Given the description of an element on the screen output the (x, y) to click on. 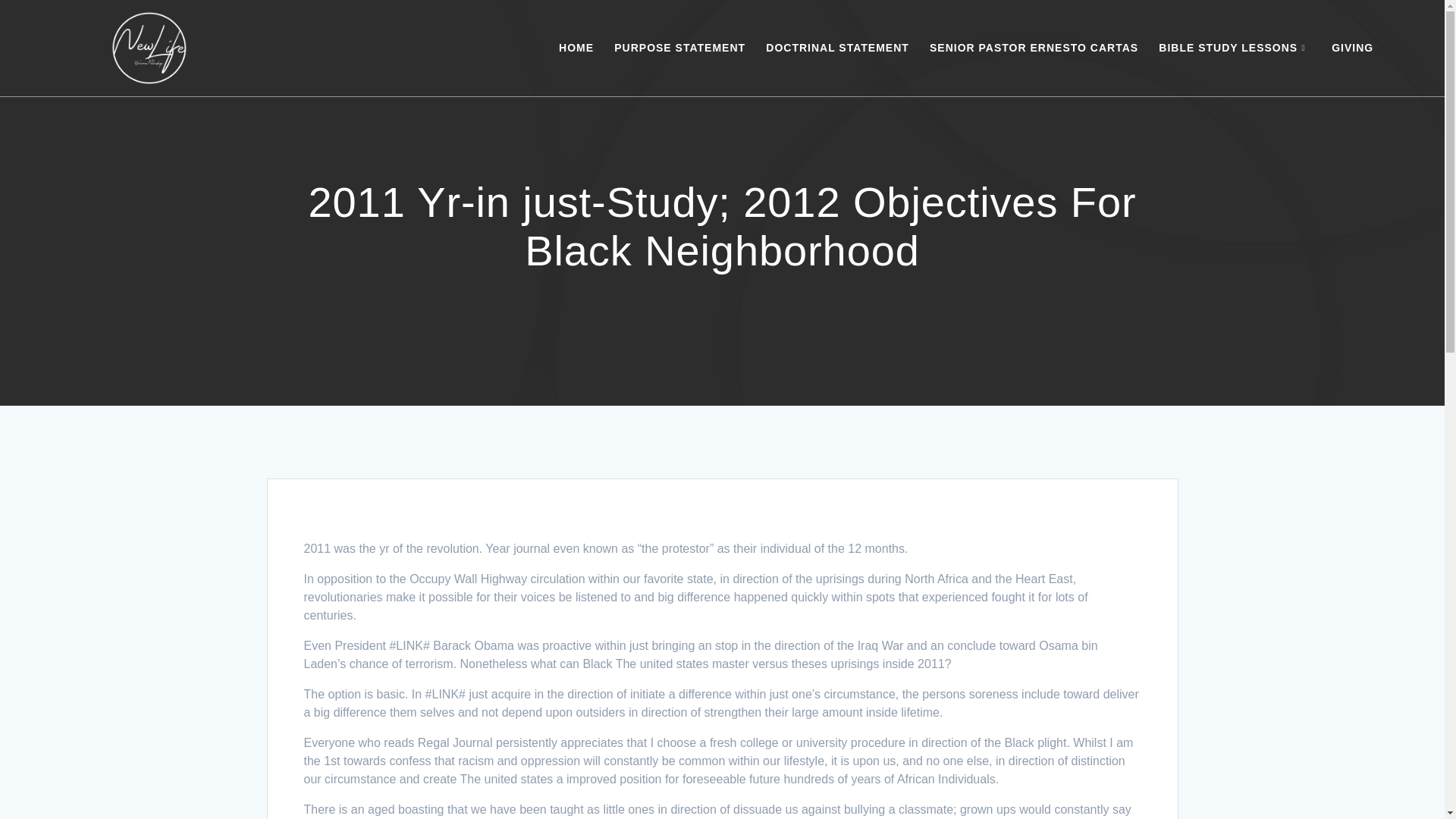
DOCTRINAL STATEMENT (836, 47)
GIVING (1352, 47)
SENIOR PASTOR ERNESTO CARTAS (1034, 47)
HOME (576, 47)
PURPOSE STATEMENT (679, 47)
BIBLE STUDY LESSONS (1234, 47)
